Given the description of an element on the screen output the (x, y) to click on. 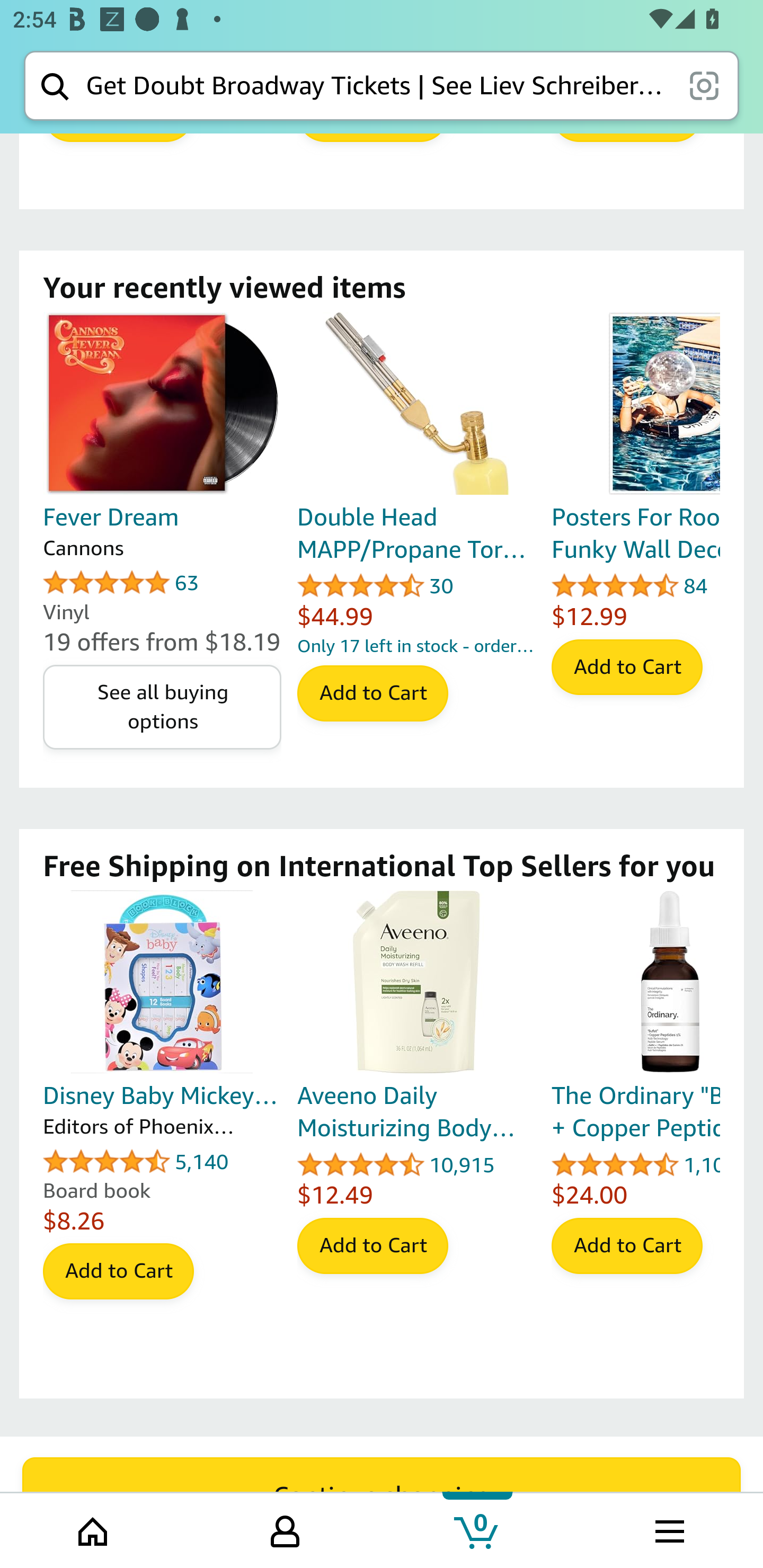
scan it (704, 85)
Fever Dream (161, 403)
Add to Cart (627, 666)
See all buying options (162, 707)
Add to Cart (372, 694)
Add to Cart (372, 1246)
Add to Cart (627, 1246)
Add to Cart (118, 1272)
Home Tab 1 of 4 (94, 1529)
Your Amazon.com Tab 2 of 4 (285, 1529)
Cart 0 item Tab 3 of 4 0 (477, 1529)
Browse menu Tab 4 of 4 (668, 1529)
